Given the description of an element on the screen output the (x, y) to click on. 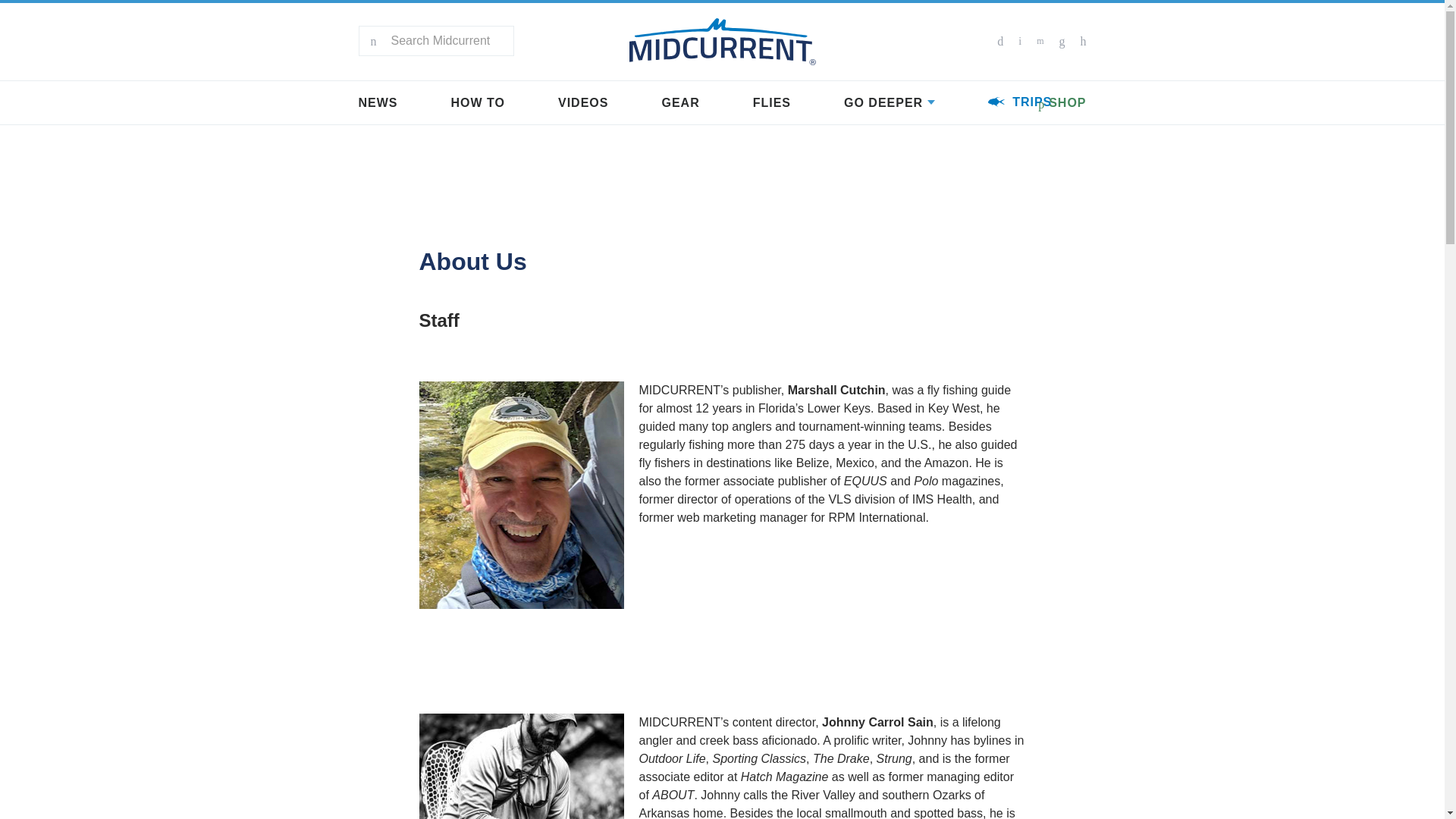
NEWS (377, 103)
FLIES (771, 103)
SHOP (1062, 104)
GO DEEPER (889, 103)
HOW TO (476, 103)
TRIPS (1019, 102)
3rd party ad content (832, 637)
GEAR (679, 103)
VIDEOS (582, 103)
3rd party ad content (721, 168)
